Given the description of an element on the screen output the (x, y) to click on. 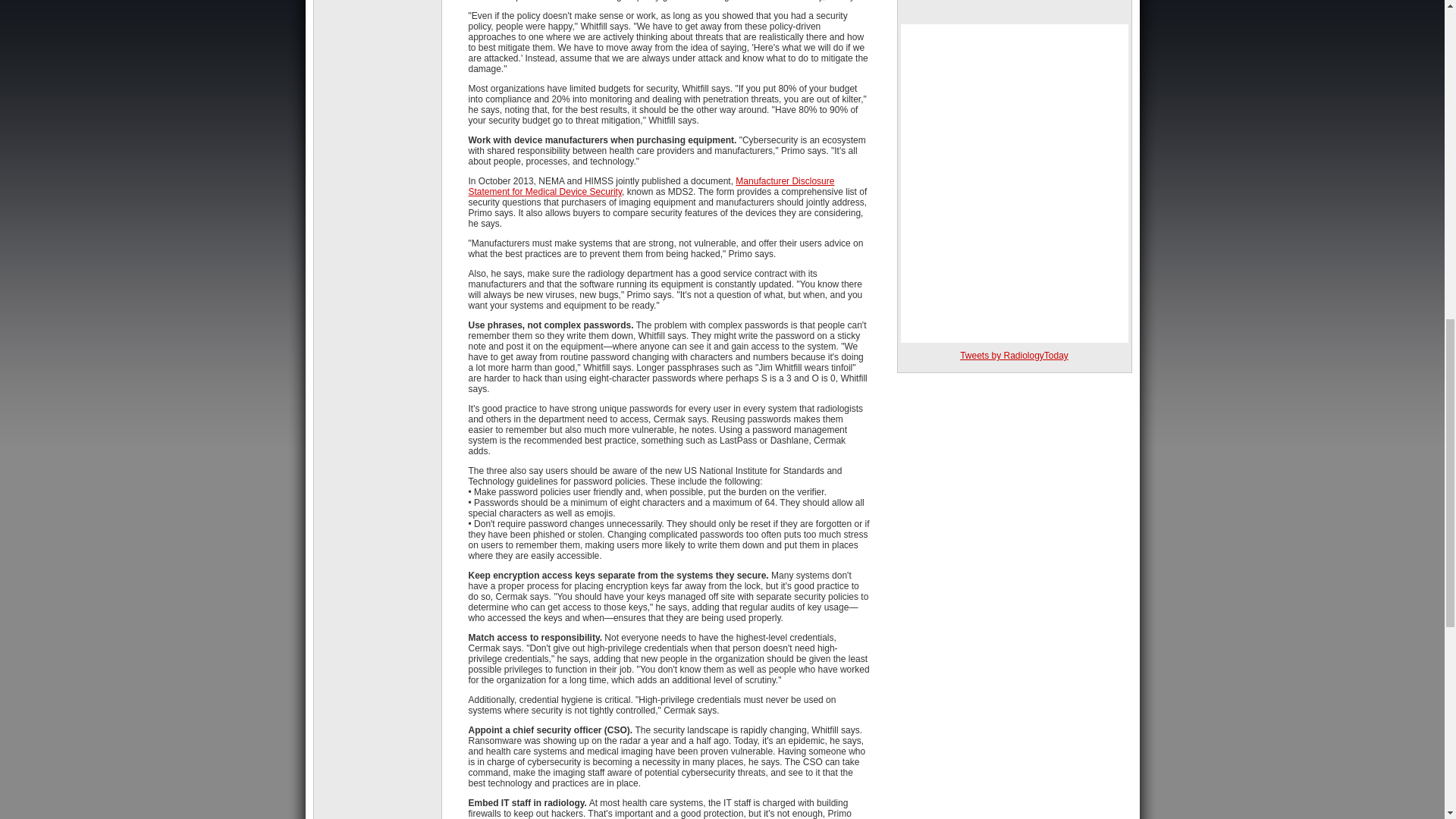
3rd party ad content (1014, 8)
Tweets by RadiologyToday (1013, 355)
